Given the description of an element on the screen output the (x, y) to click on. 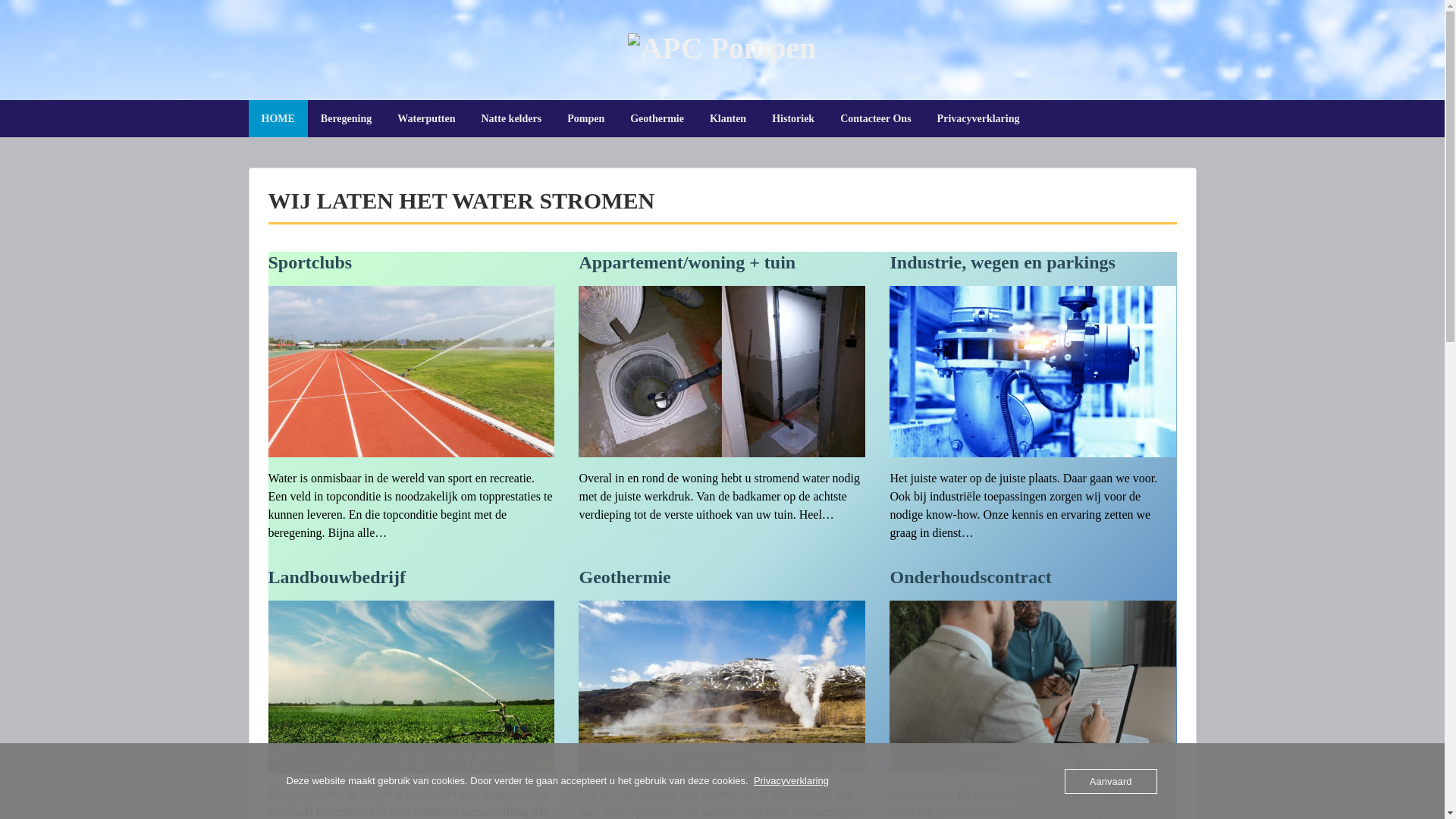
HOME Element type: text (277, 118)
Geothermie Element type: text (624, 576)
Onderhoudscontract Element type: text (970, 576)
Waterputten Element type: text (425, 118)
Klanten Element type: text (727, 118)
Historiek Element type: text (793, 118)
Contacteer Ons Element type: text (875, 118)
Appartement/woning + tuin Element type: hover (721, 447)
Natte kelders Element type: text (510, 118)
Geothermie Element type: hover (721, 762)
Landbouwbedrijf Element type: hover (411, 762)
Privacyverklaring Element type: text (790, 780)
Industrie, wegen en parkings Element type: hover (1032, 447)
Aanvaard Element type: text (1110, 780)
Sportclubs Element type: hover (411, 447)
Geothermie Element type: text (656, 118)
Beregening Element type: text (345, 118)
Onderhoudscontract Element type: hover (1032, 762)
Pompen Element type: text (585, 118)
Landbouwbedrijf Element type: text (336, 576)
Privacyverklaring Element type: text (978, 118)
Appartement/woning + tuin Element type: text (686, 262)
Industrie, wegen en parkings Element type: text (1001, 262)
Sportclubs Element type: text (310, 262)
